Given the description of an element on the screen output the (x, y) to click on. 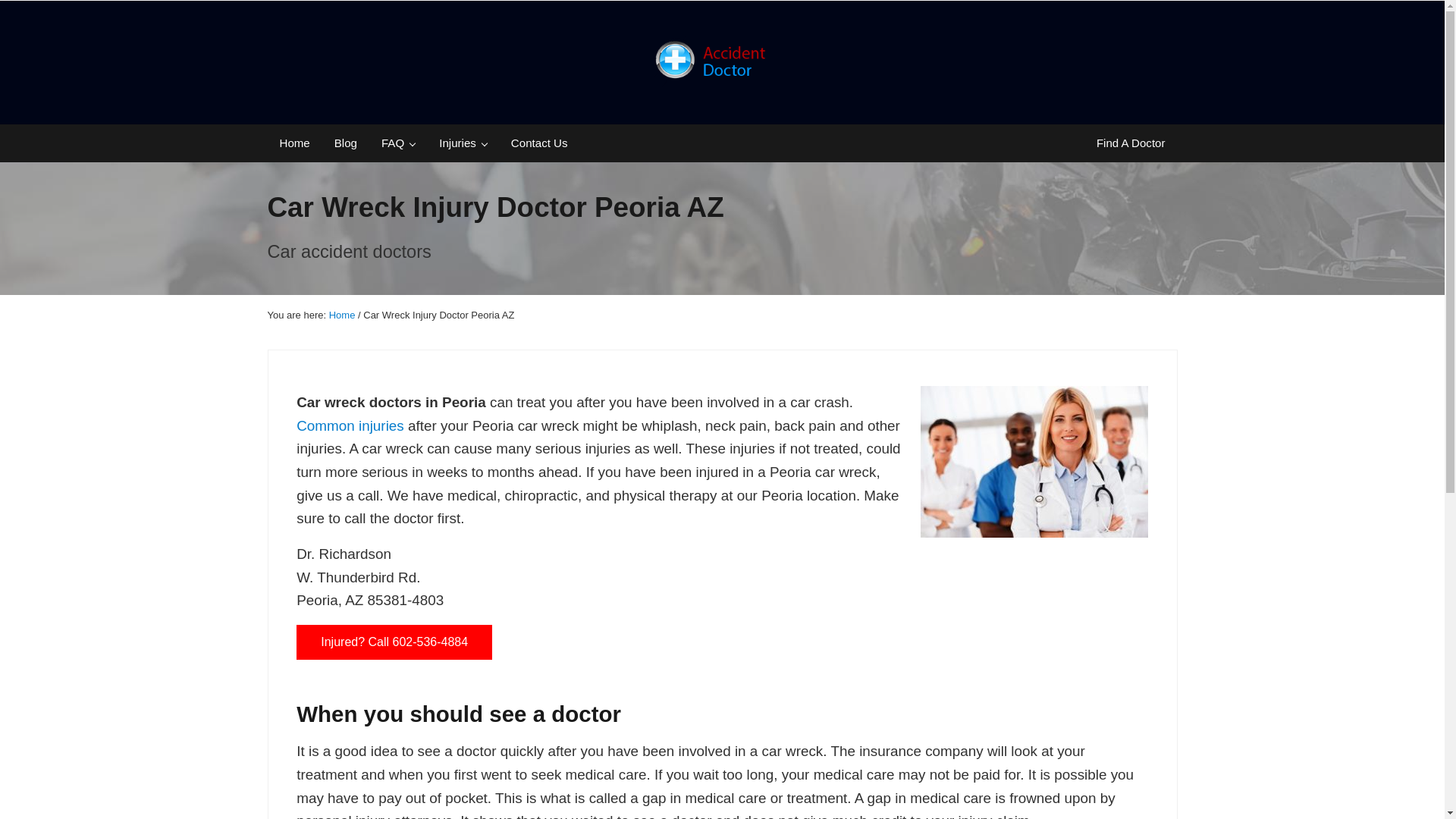
Home (293, 143)
Blog (345, 143)
FAQ (397, 143)
